Given the description of an element on the screen output the (x, y) to click on. 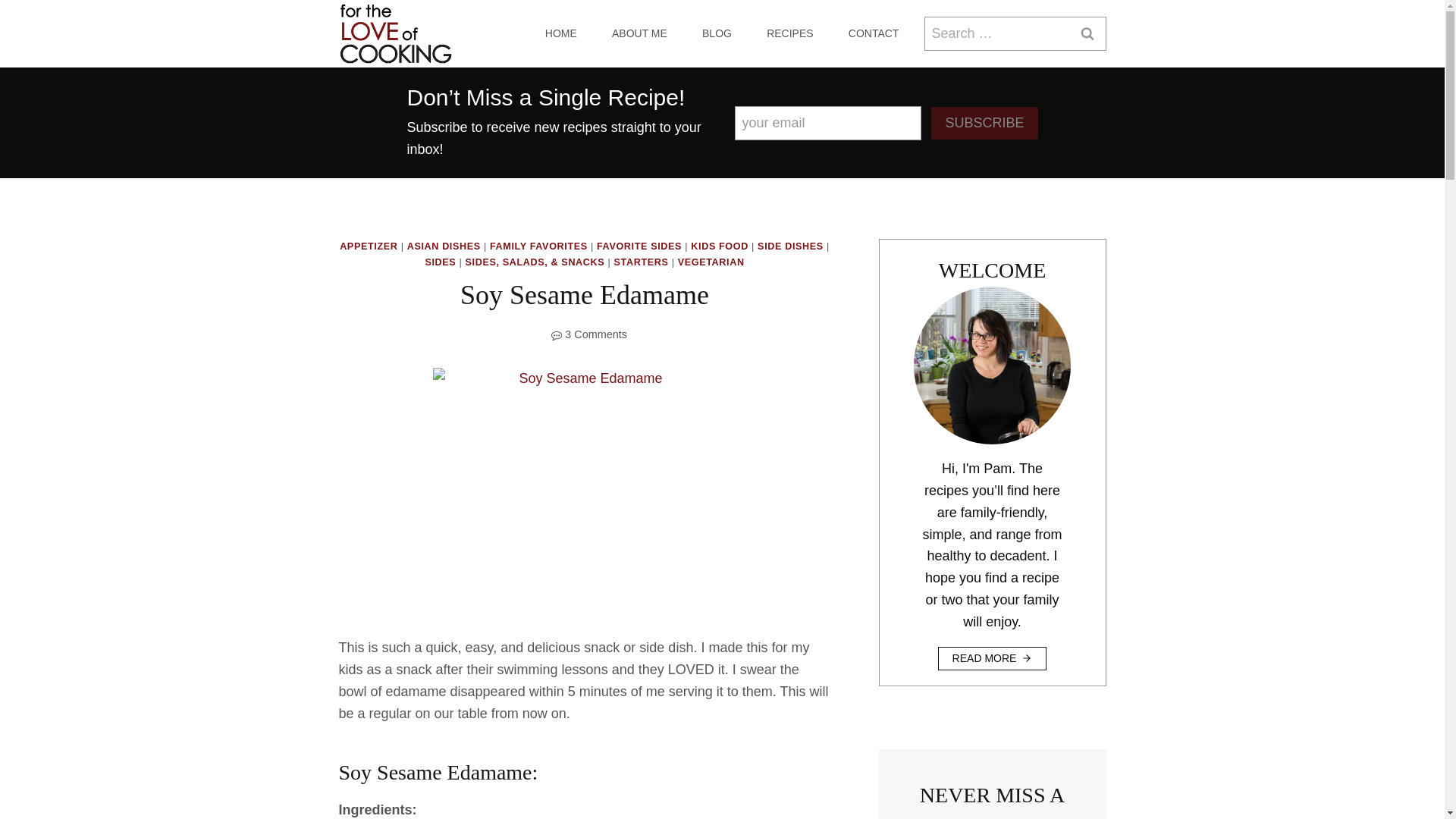
Soy Sesame Edamame (584, 489)
Search (1086, 33)
3 Comments (595, 334)
SIDE DISHES (790, 245)
SIDES (440, 262)
APPETIZER (368, 245)
Search (1086, 33)
STARTERS (641, 262)
KIDS FOOD (719, 245)
HOME (560, 33)
3 Comments (595, 334)
Search (1086, 33)
BLOG (716, 33)
CONTACT (874, 33)
ASIAN DISHES (443, 245)
